Given the description of an element on the screen output the (x, y) to click on. 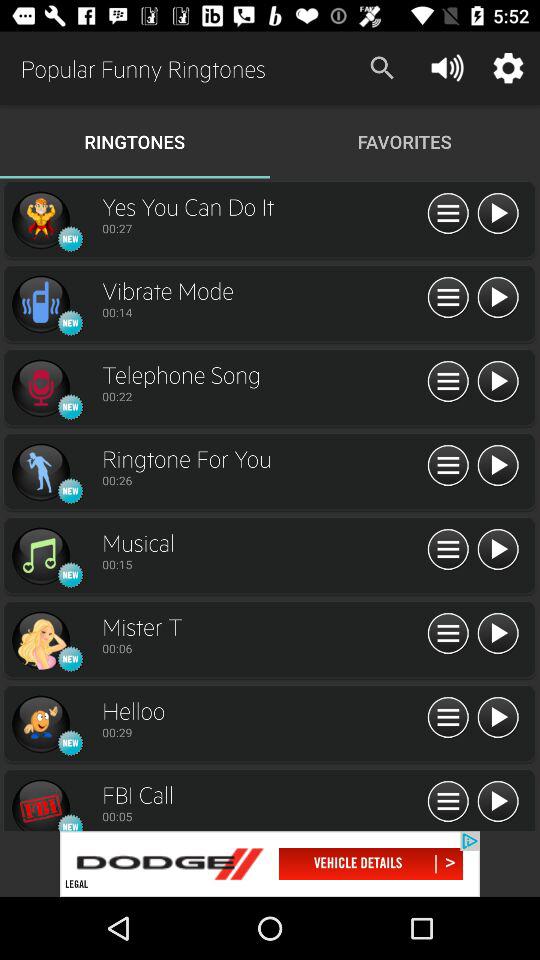
menu page (447, 549)
